Given the description of an element on the screen output the (x, y) to click on. 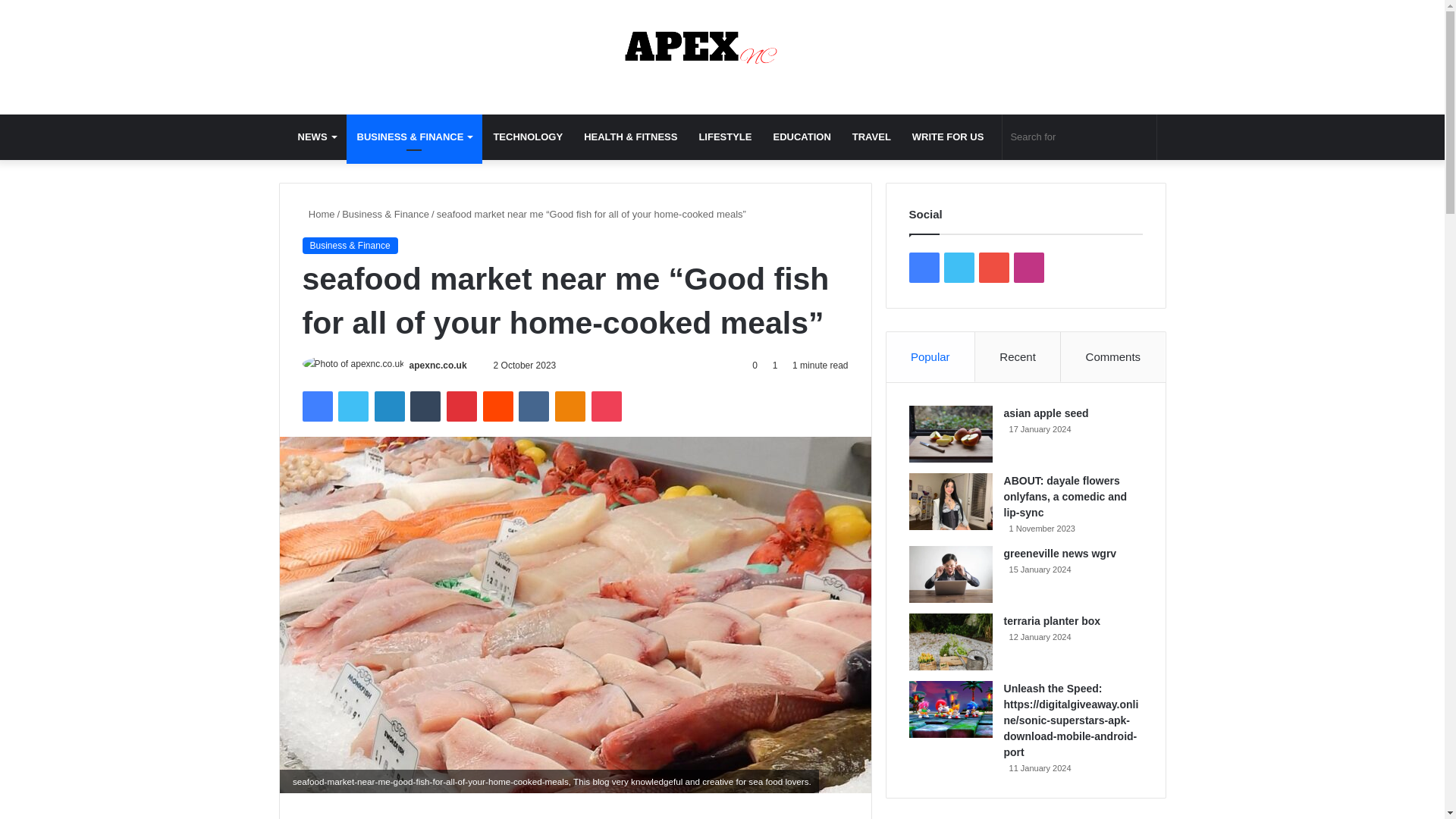
Tumblr (425, 406)
Reddit (498, 406)
Twitter (352, 406)
VKontakte (533, 406)
apexnc.co.uk (438, 365)
WRITE FOR US (947, 136)
EDUCATION (801, 136)
TECHNOLOGY (527, 136)
apexnc.co.uk (721, 48)
VKontakte (533, 406)
